Given the description of an element on the screen output the (x, y) to click on. 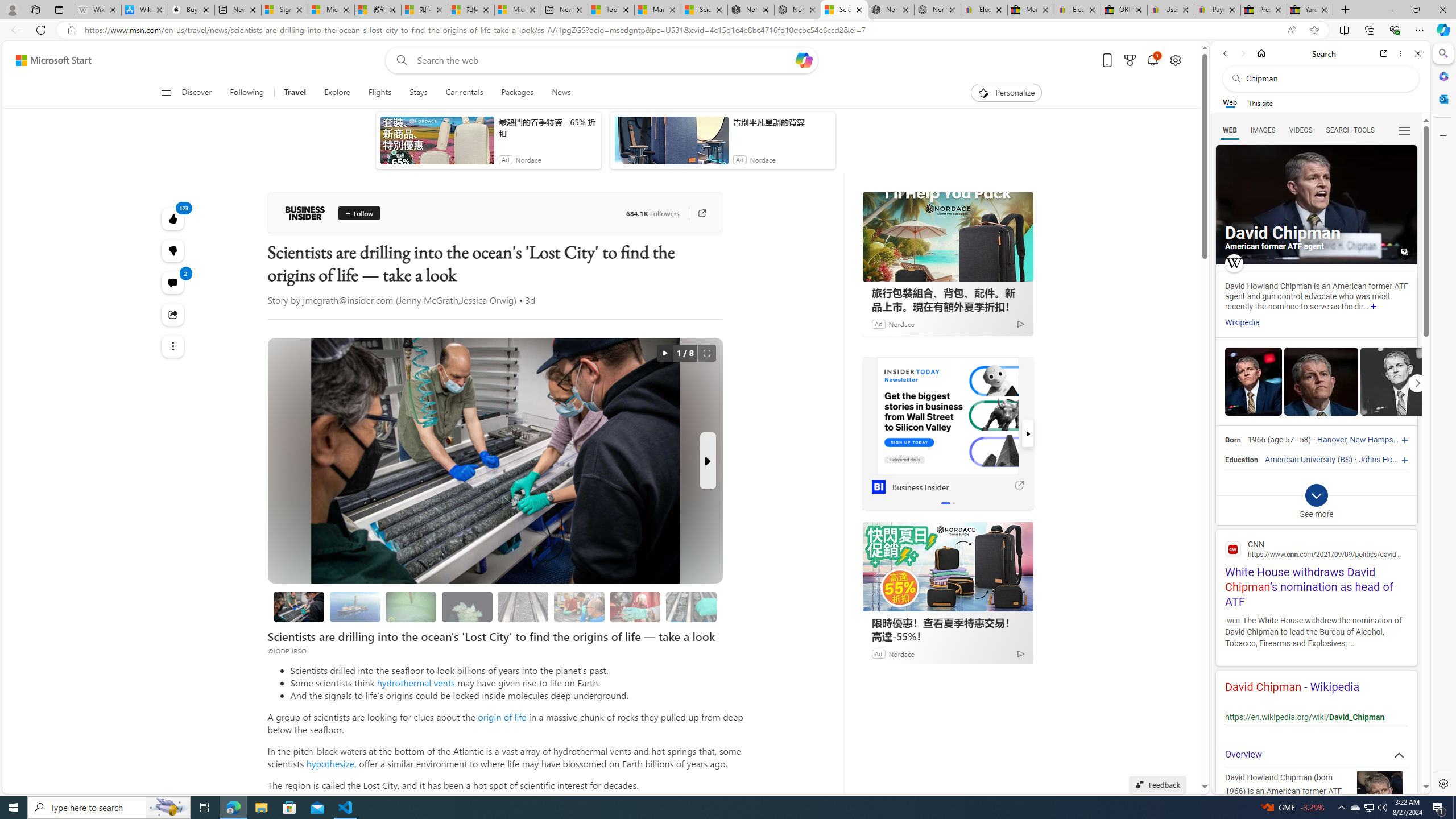
BS (1344, 460)
Stays (418, 92)
autorotate button (664, 352)
View details (1396, 381)
Researchers are still studying the samples (691, 606)
The Lost City could hold clues to the origin of life. (466, 606)
